Given the description of an element on the screen output the (x, y) to click on. 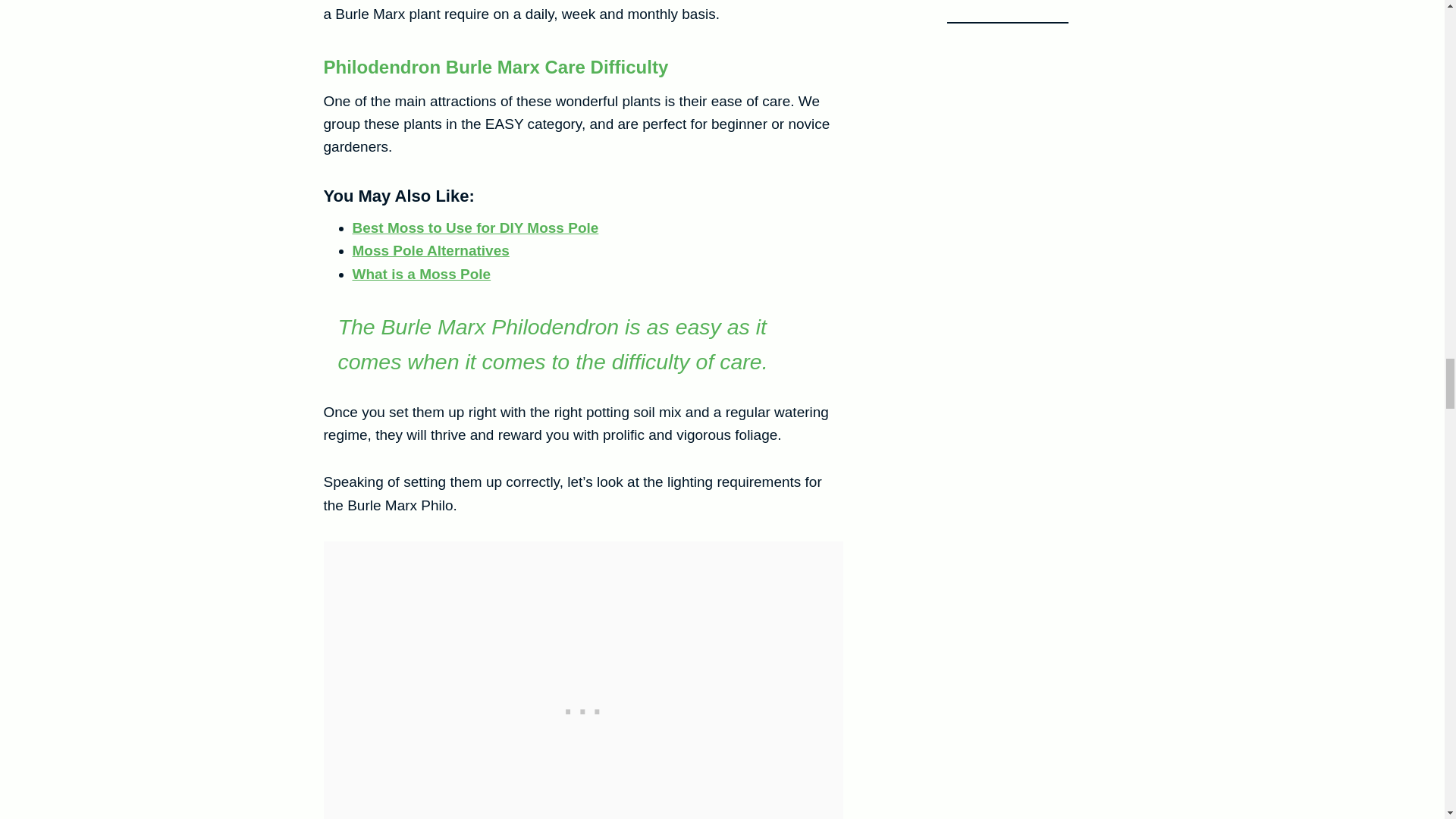
What is a Moss Pole (421, 273)
Moss Pole Alternatives (430, 250)
Best Moss to Use for DIY Moss Pole (475, 227)
